Given the description of an element on the screen output the (x, y) to click on. 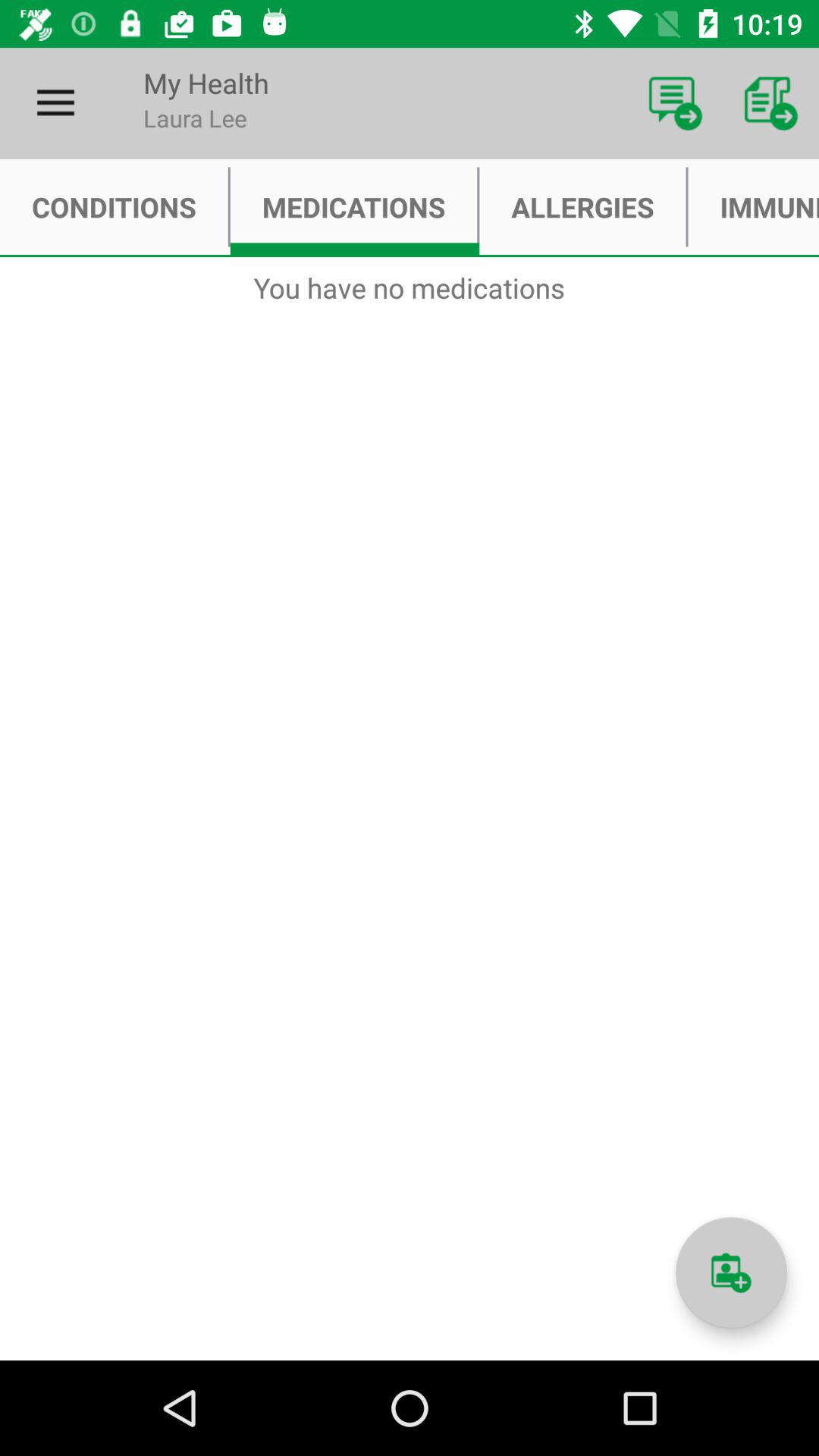
turn on the icon above immunizations (771, 103)
